Given the description of an element on the screen output the (x, y) to click on. 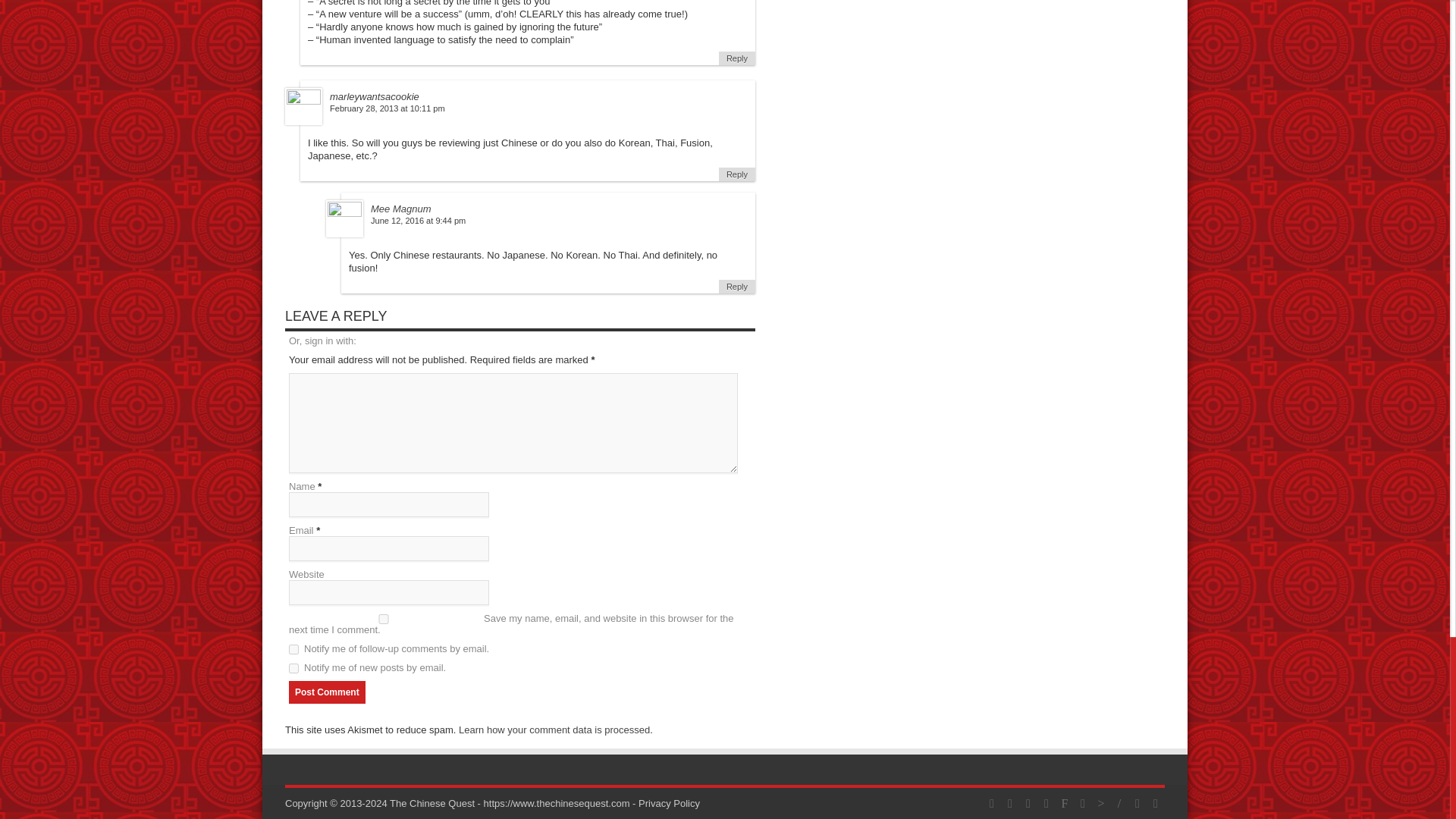
yes (383, 619)
subscribe (293, 649)
Post Comment (326, 691)
subscribe (293, 668)
